Given the description of an element on the screen output the (x, y) to click on. 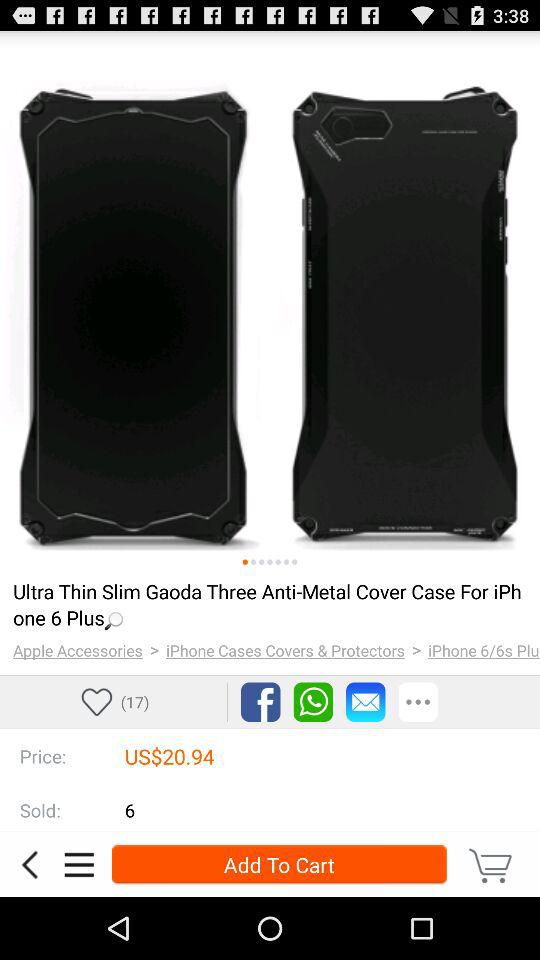
view product (270, 301)
